Given the description of an element on the screen output the (x, y) to click on. 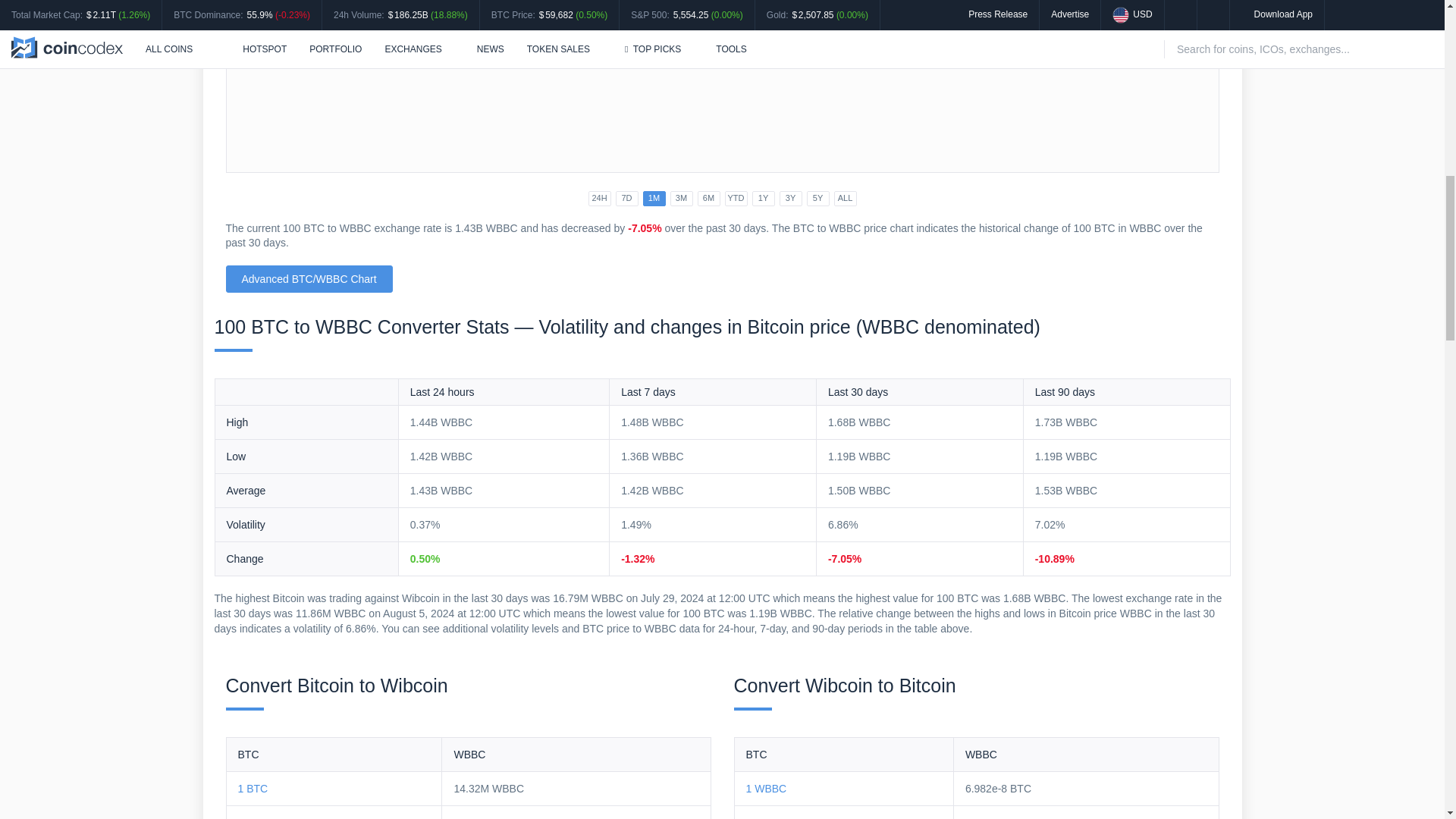
1 BTC (252, 788)
1 WBBC (766, 788)
5 BTC (252, 817)
5 WBBC (766, 817)
